Given the description of an element on the screen output the (x, y) to click on. 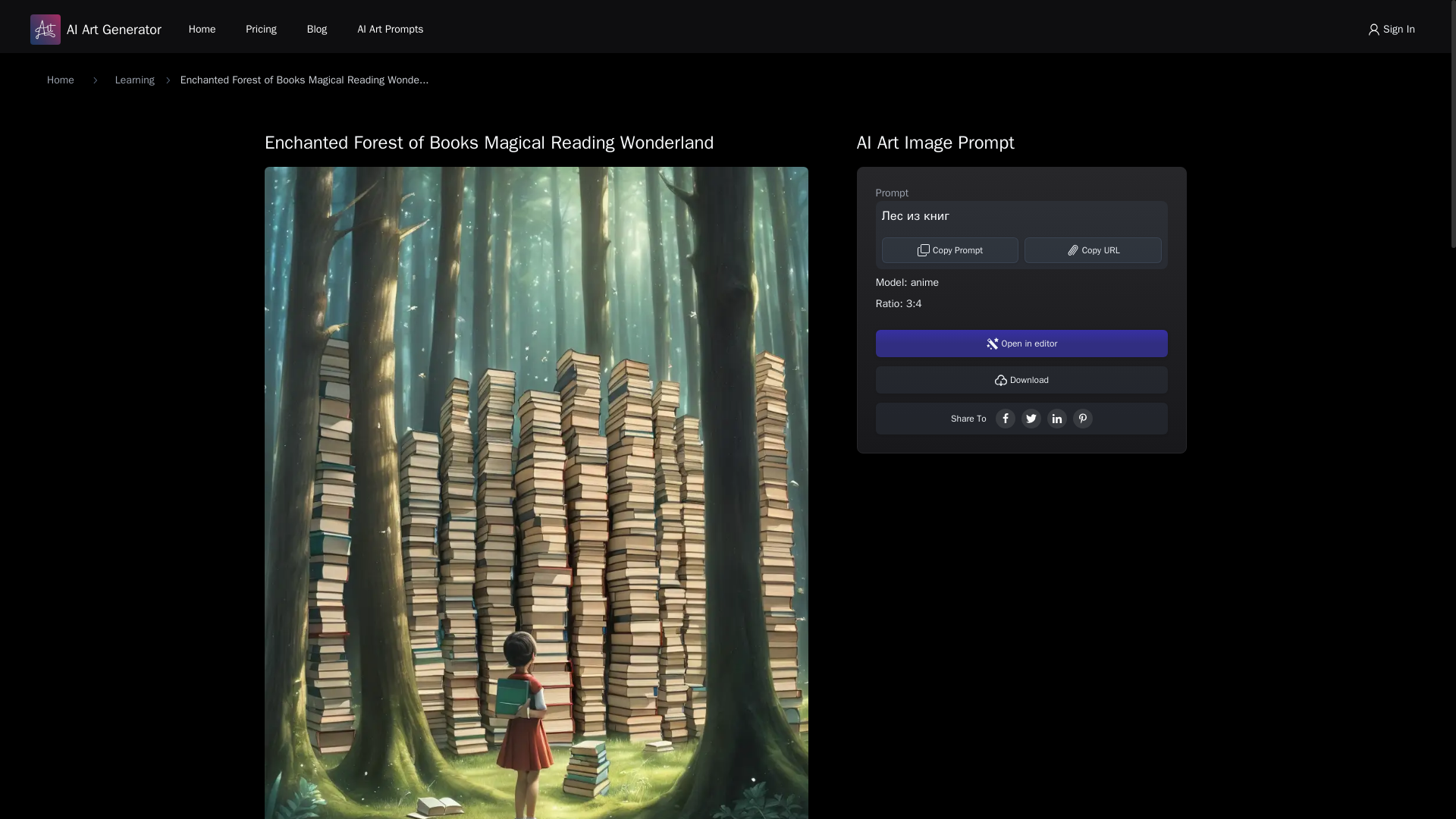
Copy URL (1093, 249)
AI Art Prompts (389, 29)
Copy Prompt (950, 249)
Home (202, 29)
Learning (134, 79)
Home (60, 79)
Blog (317, 29)
Sign In (1391, 29)
Pricing (261, 29)
AI Art Generator (95, 29)
